Given the description of an element on the screen output the (x, y) to click on. 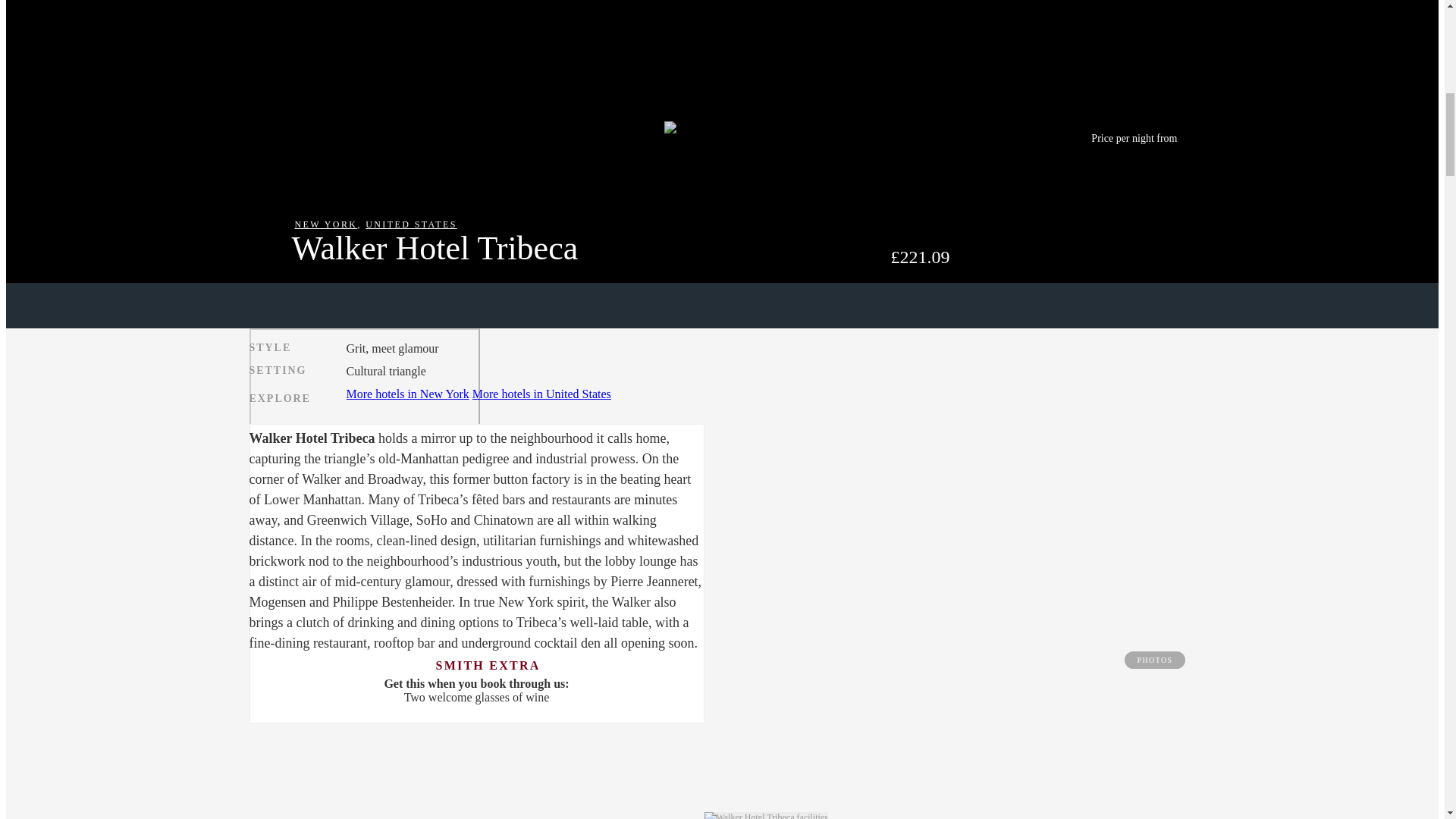
More hotels in United States (541, 393)
NEW YORK (325, 224)
UNITED STATES (411, 224)
Photos (363, 392)
More hotels in New York (407, 393)
